Given the description of an element on the screen output the (x, y) to click on. 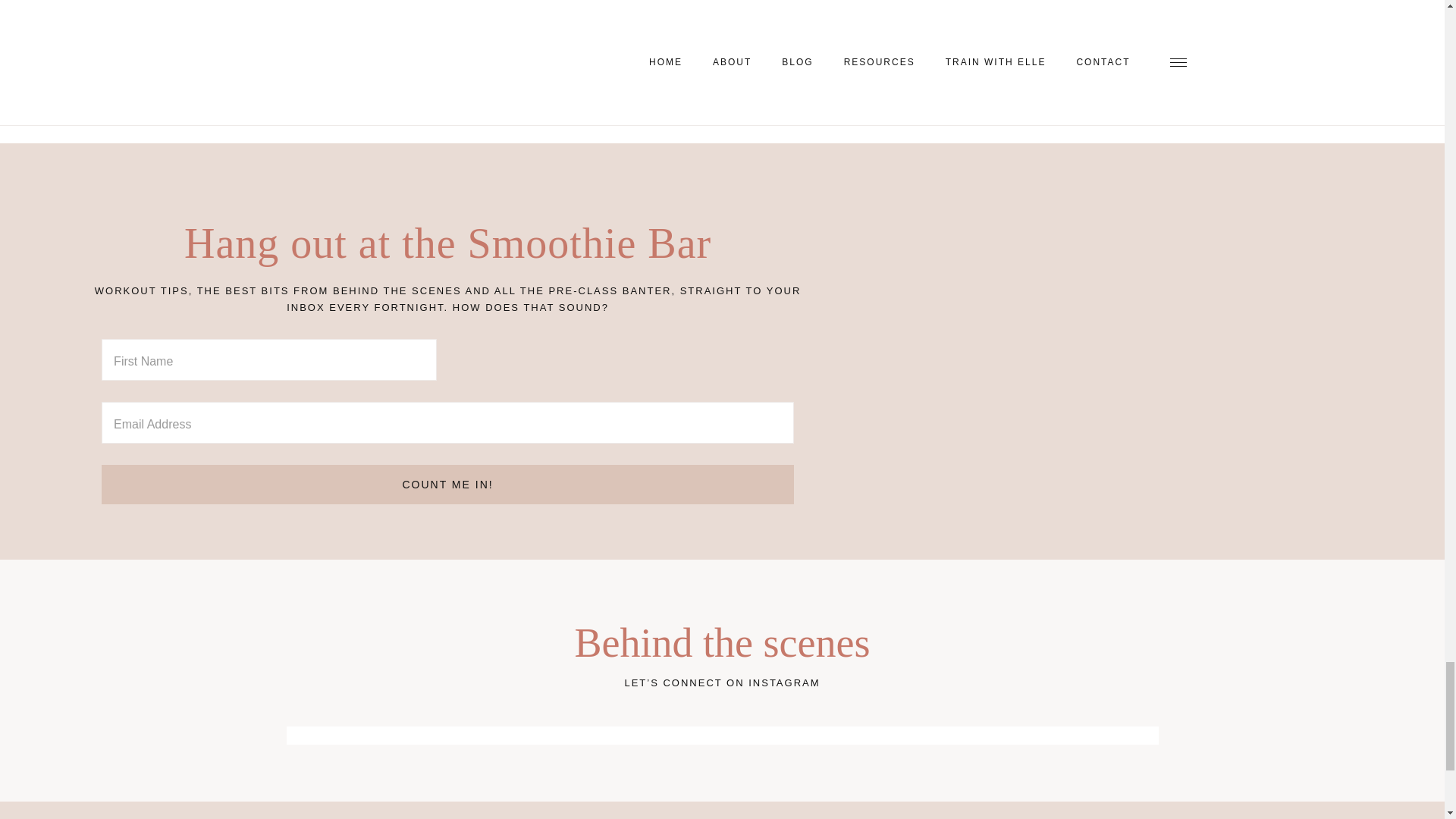
Count me in! (447, 484)
Post Comment (352, 48)
